Given the description of an element on the screen output the (x, y) to click on. 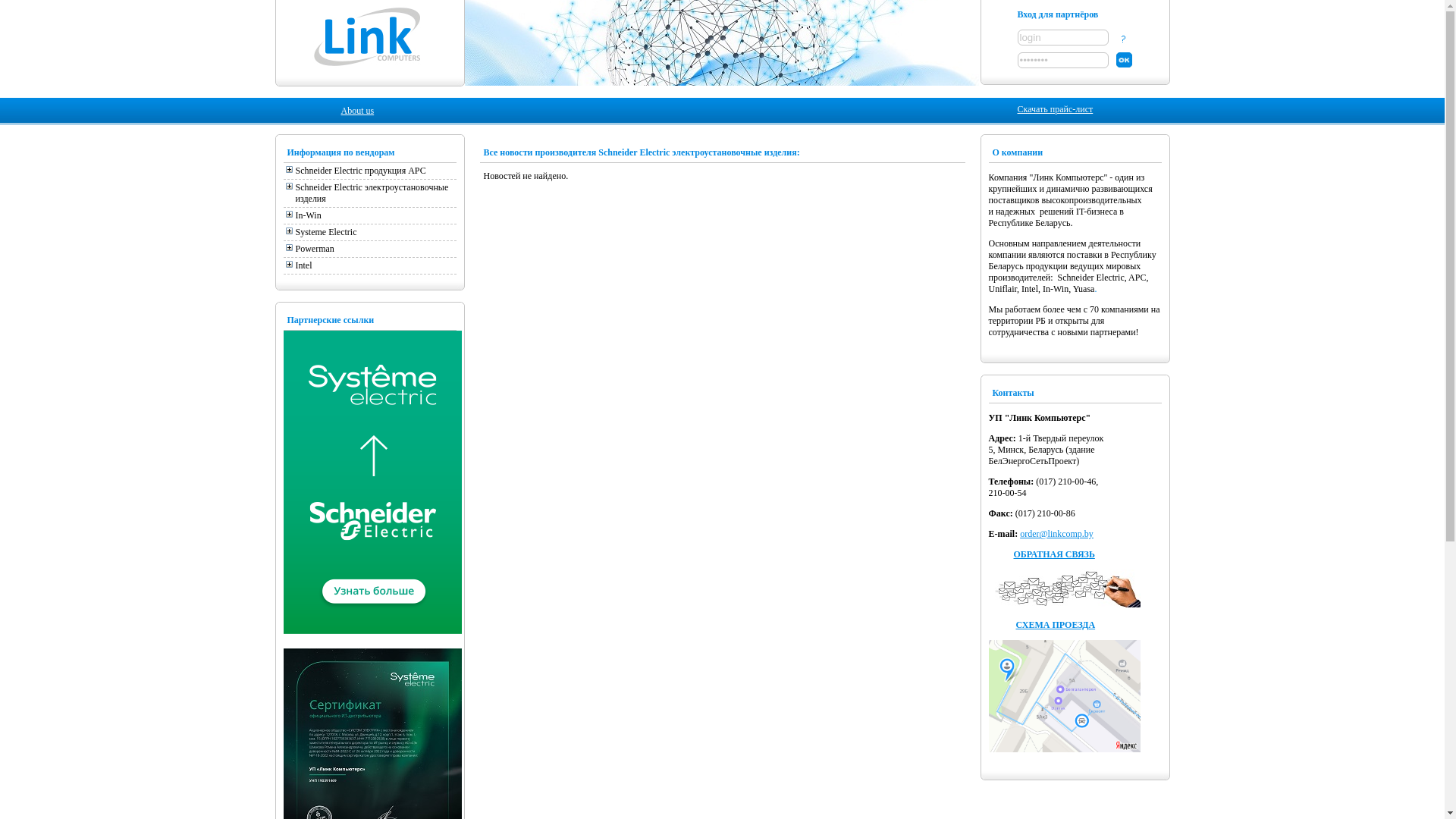
About us Element type: text (357, 110)
order@linkcomp.by Element type: text (1056, 533)
